Given the description of an element on the screen output the (x, y) to click on. 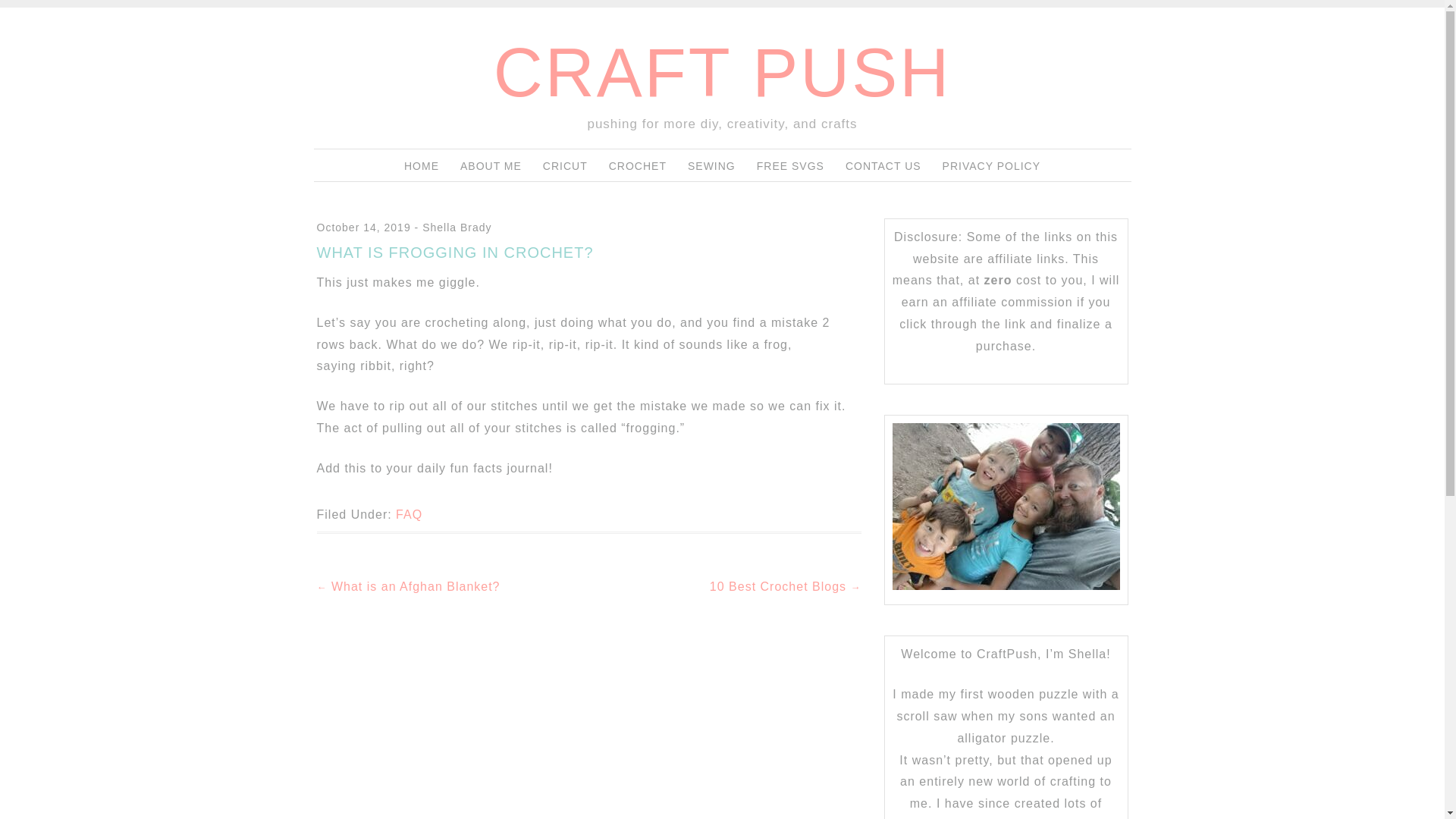
CRAFT PUSH (721, 72)
CROCHET (637, 165)
ABOUT ME (490, 165)
CONTACT US (883, 165)
CRICUT (565, 165)
Welcome to CraftPush, I'm Shella! (1005, 506)
October 14, 2019 (363, 227)
HOME (421, 165)
FAQ (409, 513)
SEWING (711, 165)
